Given the description of an element on the screen output the (x, y) to click on. 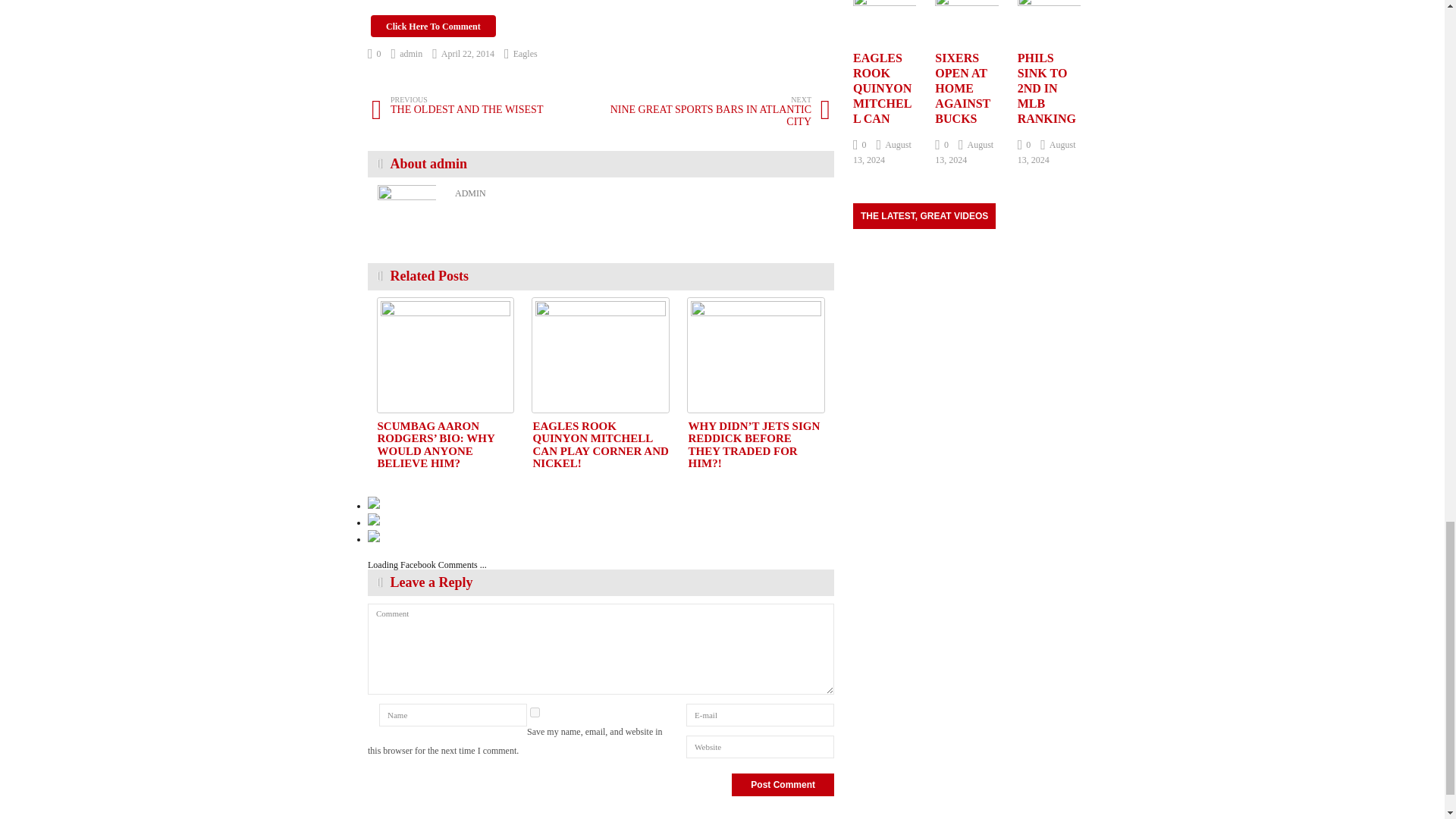
Eagles (525, 53)
ADMIN (470, 193)
yes (534, 712)
Website (759, 746)
Post Comment (485, 105)
EAGLES ROOK QUINYON MITCHELL CAN PLAY CORNER AND NICKEL! (783, 784)
April 22, 2014 (600, 355)
Click Here To Comment (463, 53)
admin (433, 25)
